Given the description of an element on the screen output the (x, y) to click on. 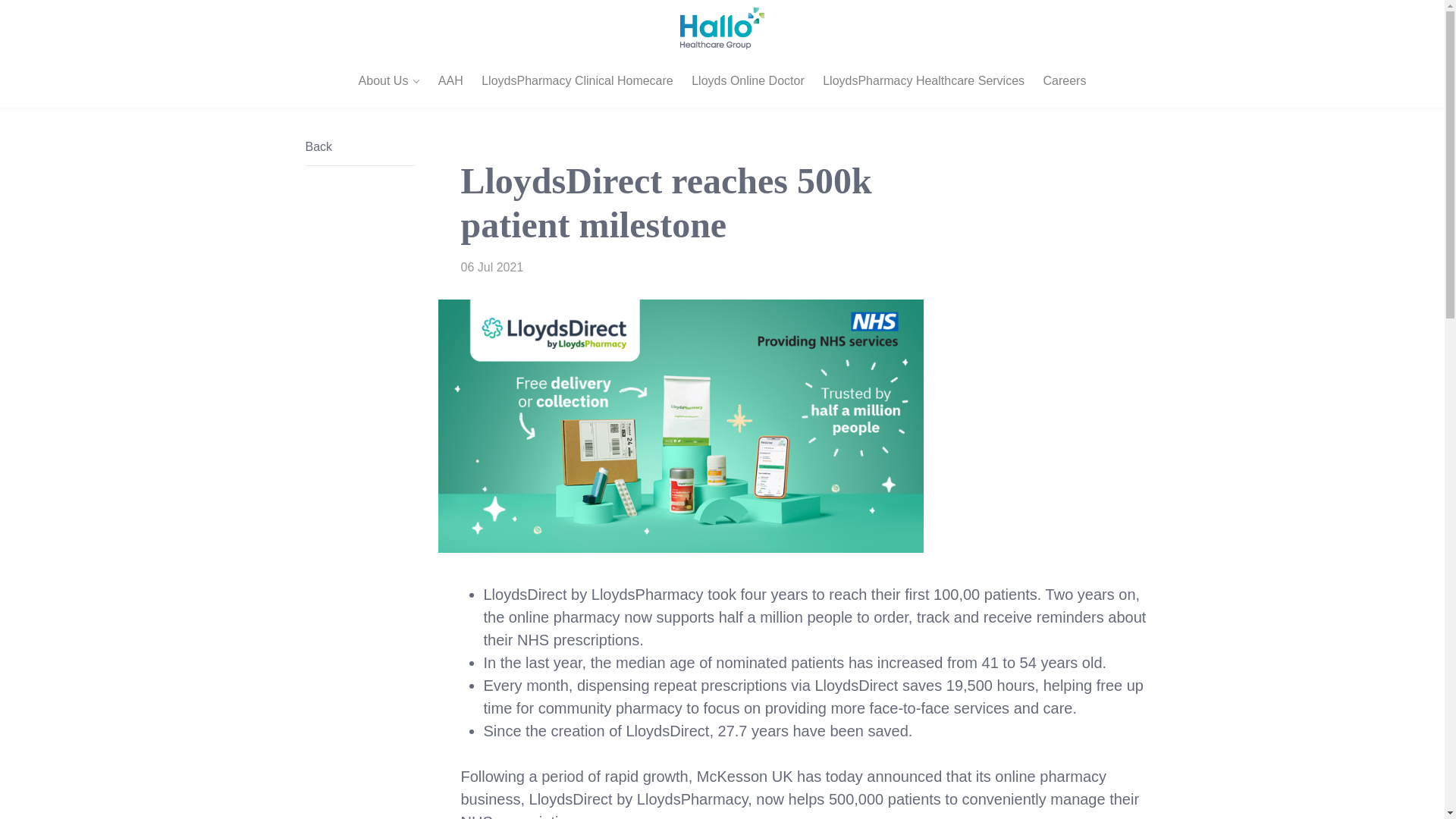
AAH (450, 81)
Lloyds Online Doctor (748, 81)
Careers (1064, 81)
About Us (389, 81)
LloydsPharmacy Clinical Homecare (576, 81)
LloydsPharmacy Healthcare Services (923, 81)
Back (351, 147)
